Given the description of an element on the screen output the (x, y) to click on. 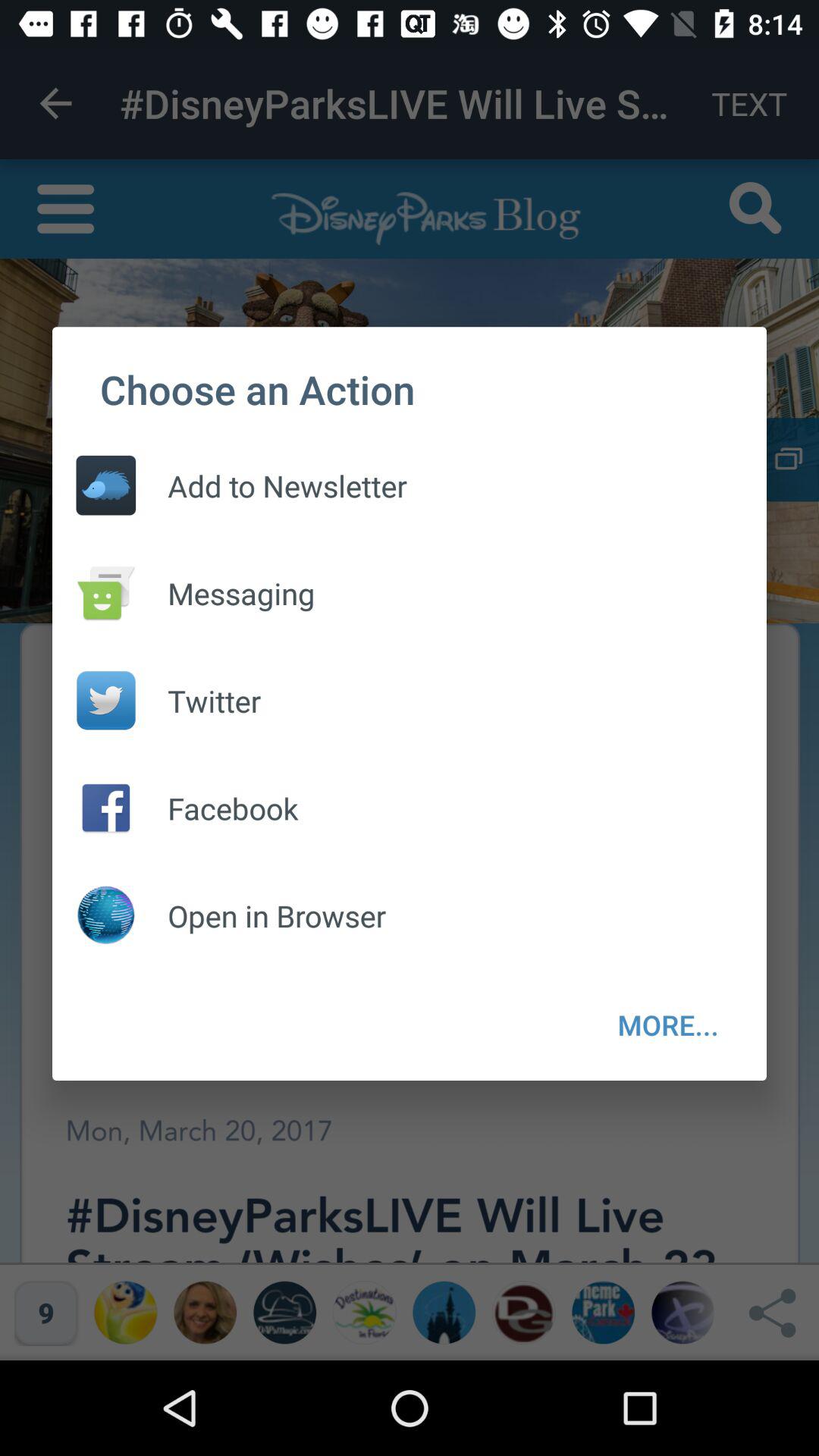
jump to open in browser item (260, 915)
